Given the description of an element on the screen output the (x, y) to click on. 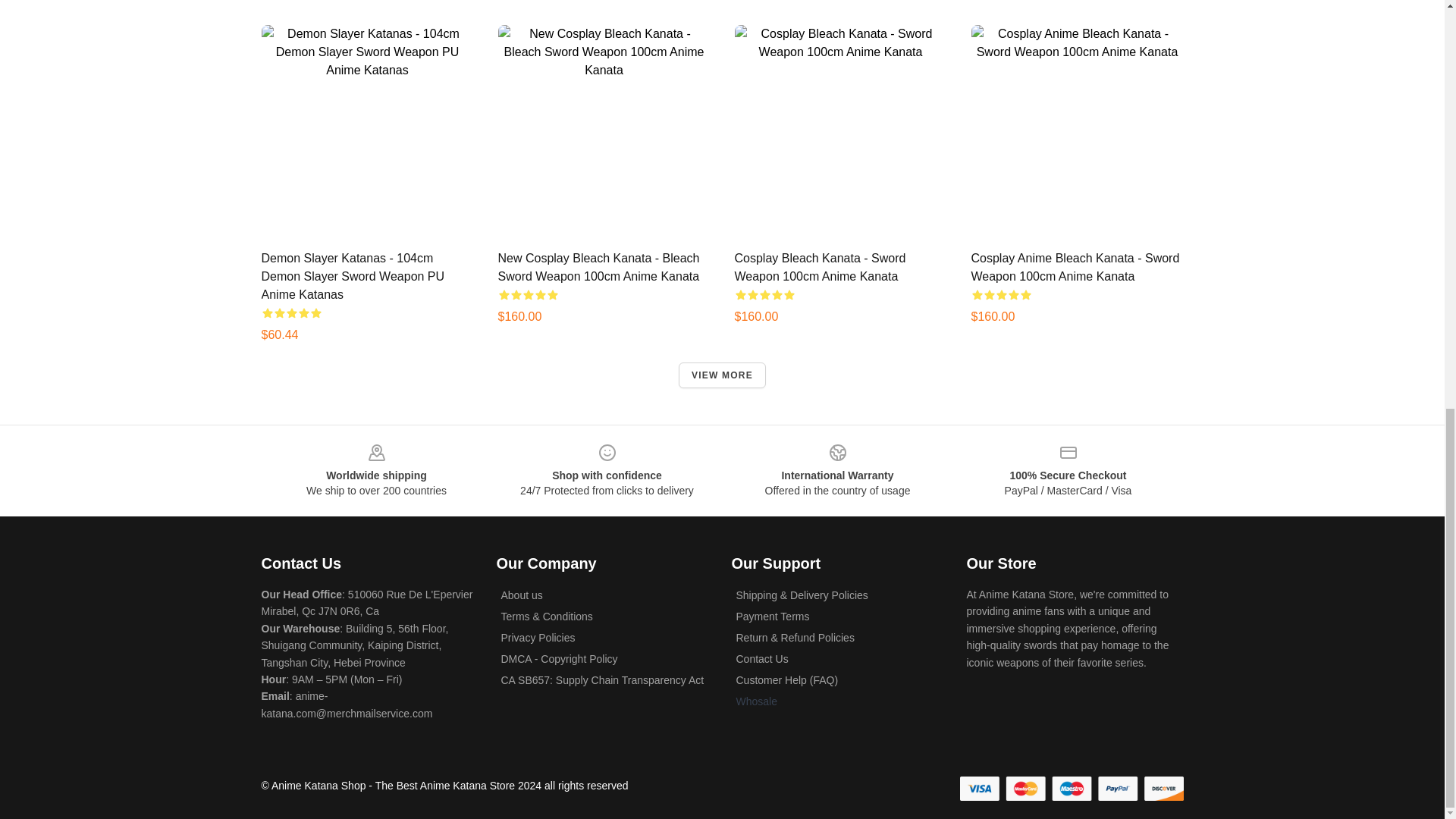
Cosplay Bleach Kanata - Sword Weapon 100cm Anime Kanata (819, 266)
